Given the description of an element on the screen output the (x, y) to click on. 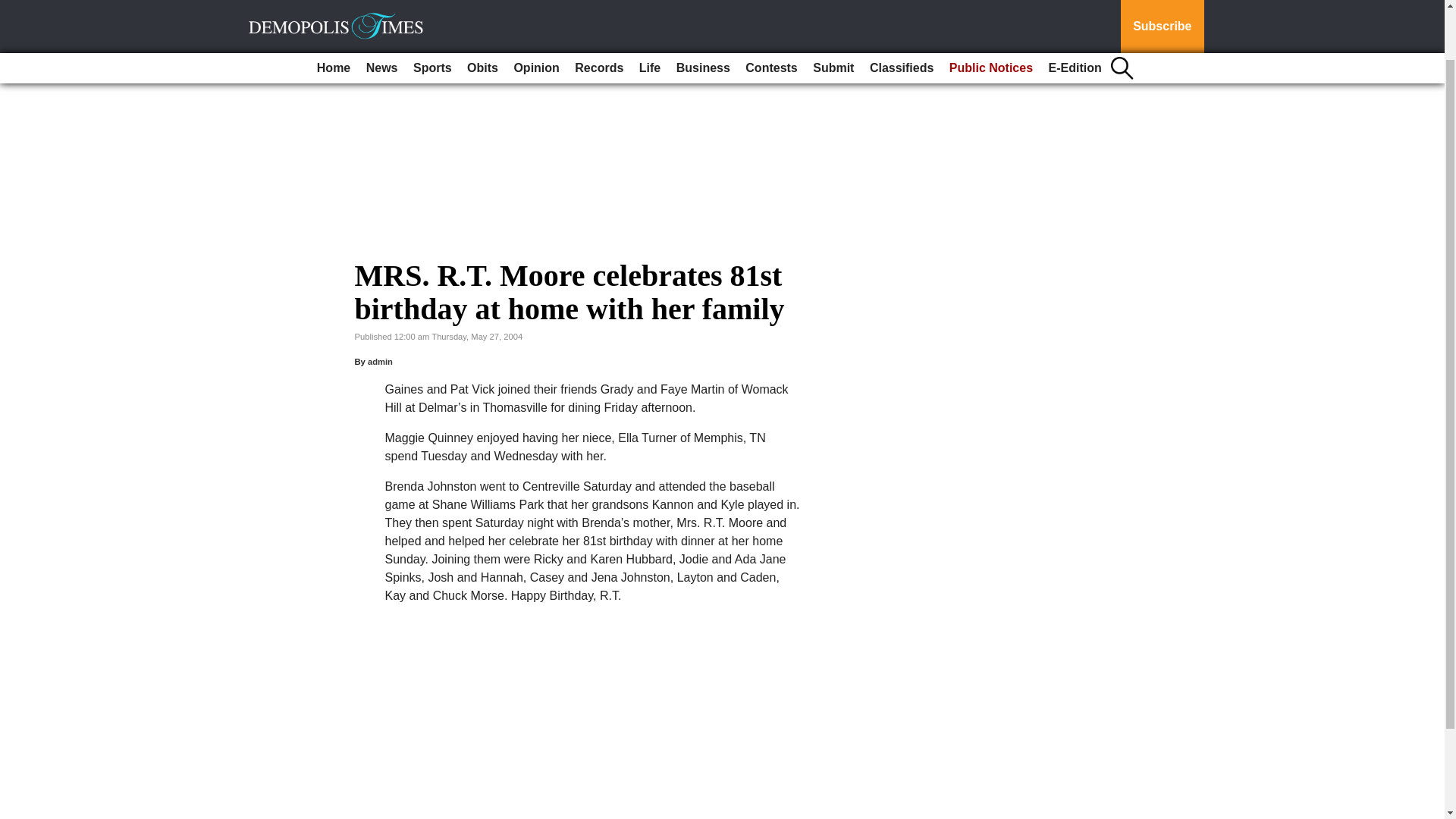
Opinion (535, 11)
Public Notices (991, 11)
Contests (771, 11)
Sports (432, 11)
E-Edition (1075, 11)
Submit (833, 11)
Business (702, 11)
admin (380, 361)
Life (649, 11)
Classifieds (901, 11)
